Given the description of an element on the screen output the (x, y) to click on. 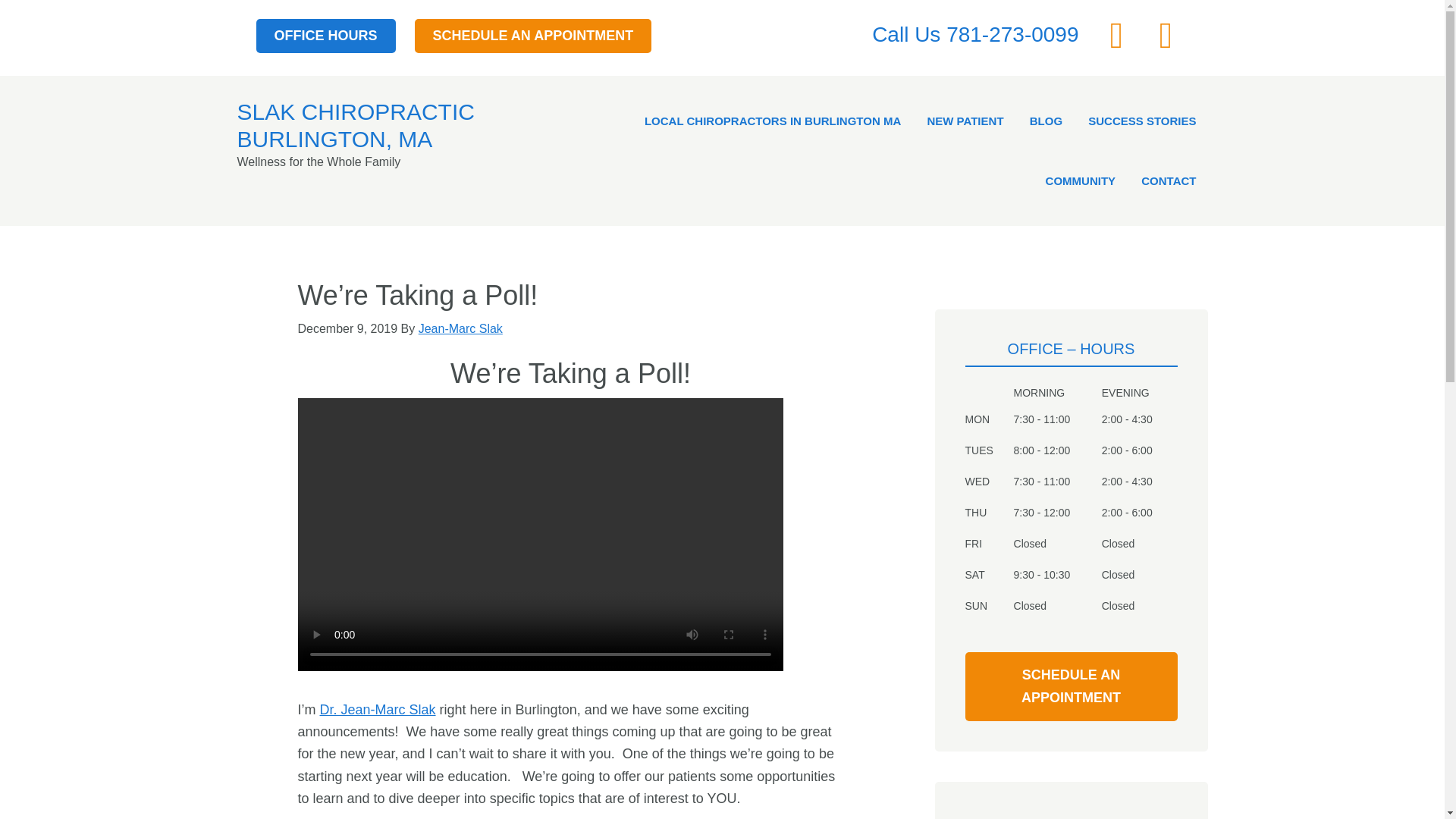
COMMUNITY (1079, 180)
BLOG (1045, 120)
LOCAL CHIROPRACTORS IN BURLINGTON MA (772, 120)
OFFICE HOURS (326, 35)
Jean-Marc Slak (460, 328)
CONTACT (1168, 180)
SUCCESS STORIES (1142, 120)
SLAK CHIROPRACTIC BURLINGTON, MA (354, 125)
Dr. Jean-Marc Slak (377, 709)
NEW PATIENT (964, 120)
